Given the description of an element on the screen output the (x, y) to click on. 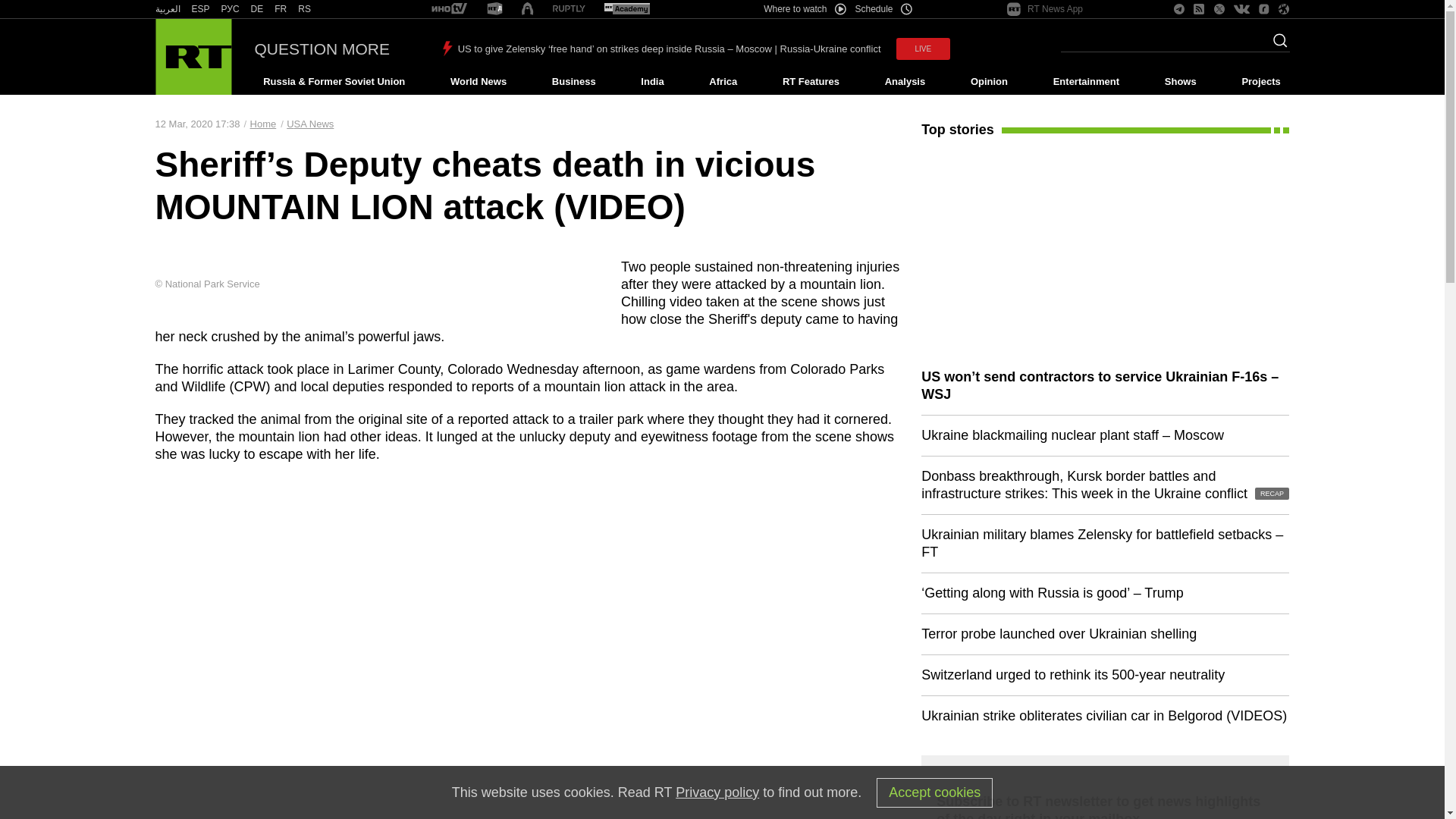
Opinion (988, 81)
RT  (256, 9)
Analysis (905, 81)
ESP (199, 9)
Projects (1261, 81)
RT  (230, 9)
RT  (304, 9)
Where to watch (803, 9)
RT  (280, 9)
Africa (722, 81)
